Given the description of an element on the screen output the (x, y) to click on. 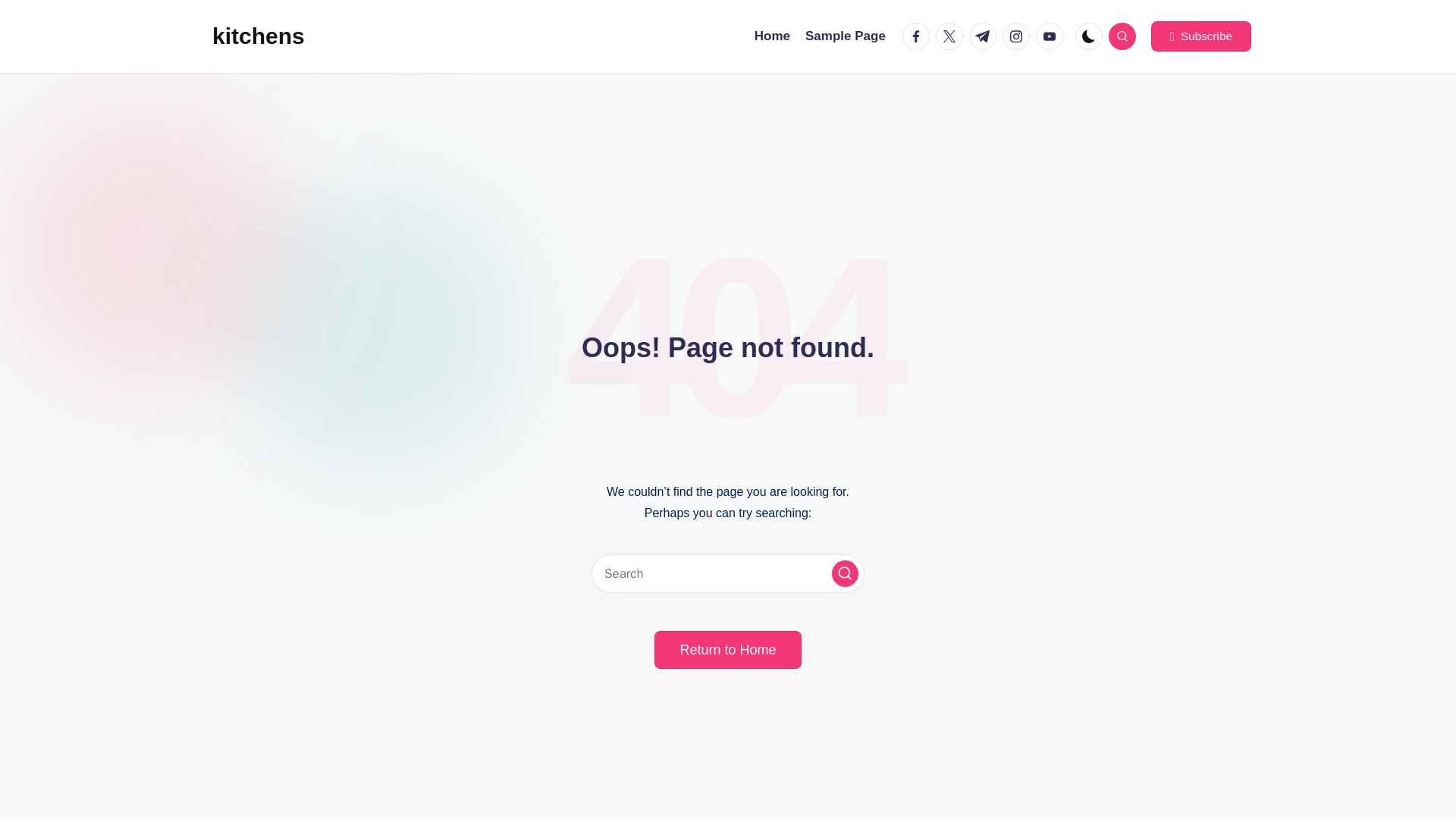
youtube.com (1051, 35)
facebook.com (919, 35)
Subscribe (1200, 36)
Home (772, 36)
Return to Home (726, 649)
instagram.com (1019, 35)
kitchens (258, 36)
t.me (986, 35)
twitter.com (952, 35)
Sample Page (845, 36)
